Given the description of an element on the screen output the (x, y) to click on. 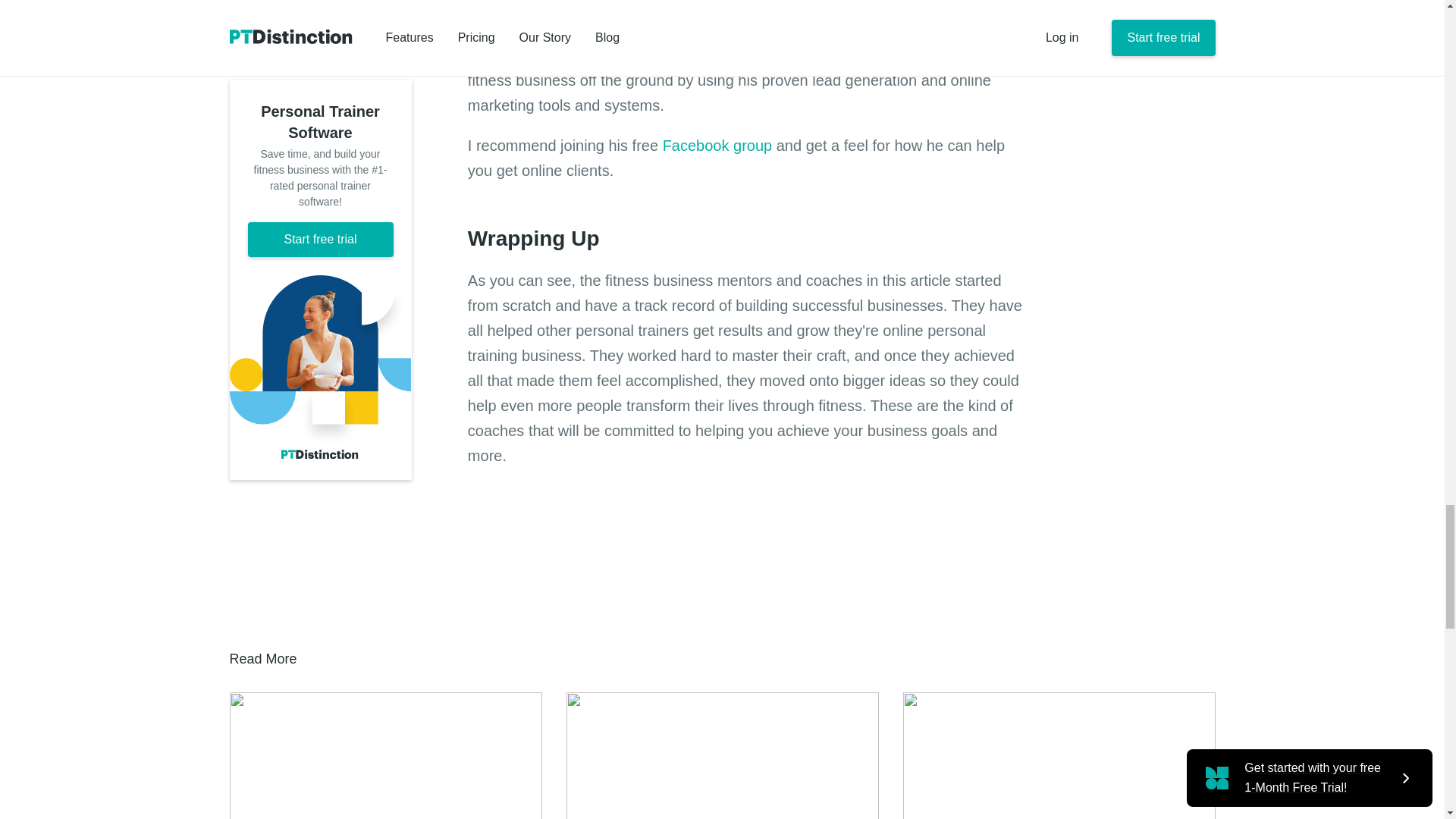
Facebook group (717, 145)
